Given the description of an element on the screen output the (x, y) to click on. 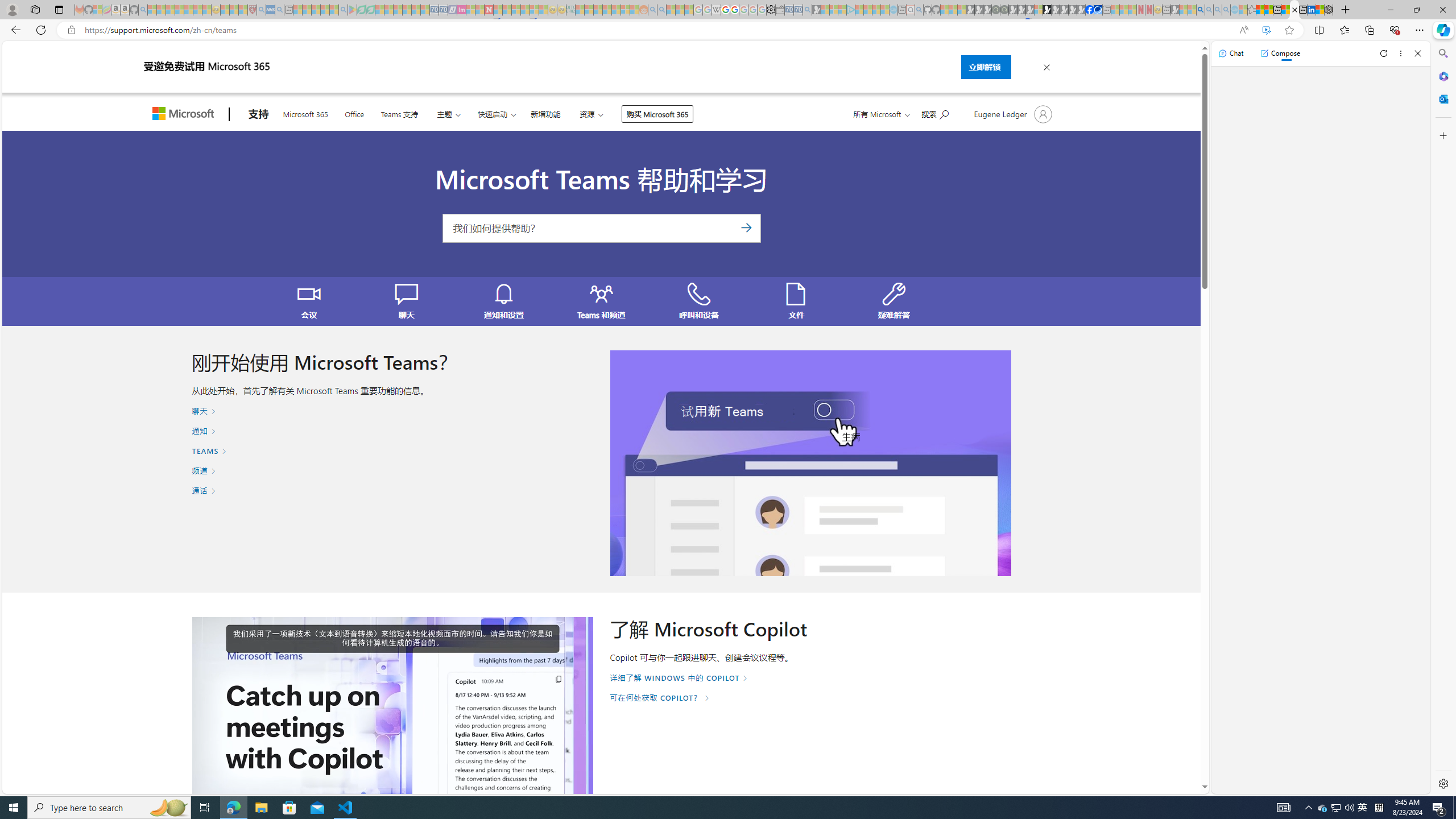
Aberdeen, Hong Kong SAR weather forecast | Microsoft Weather (1268, 9)
Close tab (1295, 9)
Pets - MSN - Sleeping (324, 9)
Microsoft Start - Sleeping (876, 9)
AQI & Health | AirNow.gov (1098, 9)
